Given the description of an element on the screen output the (x, y) to click on. 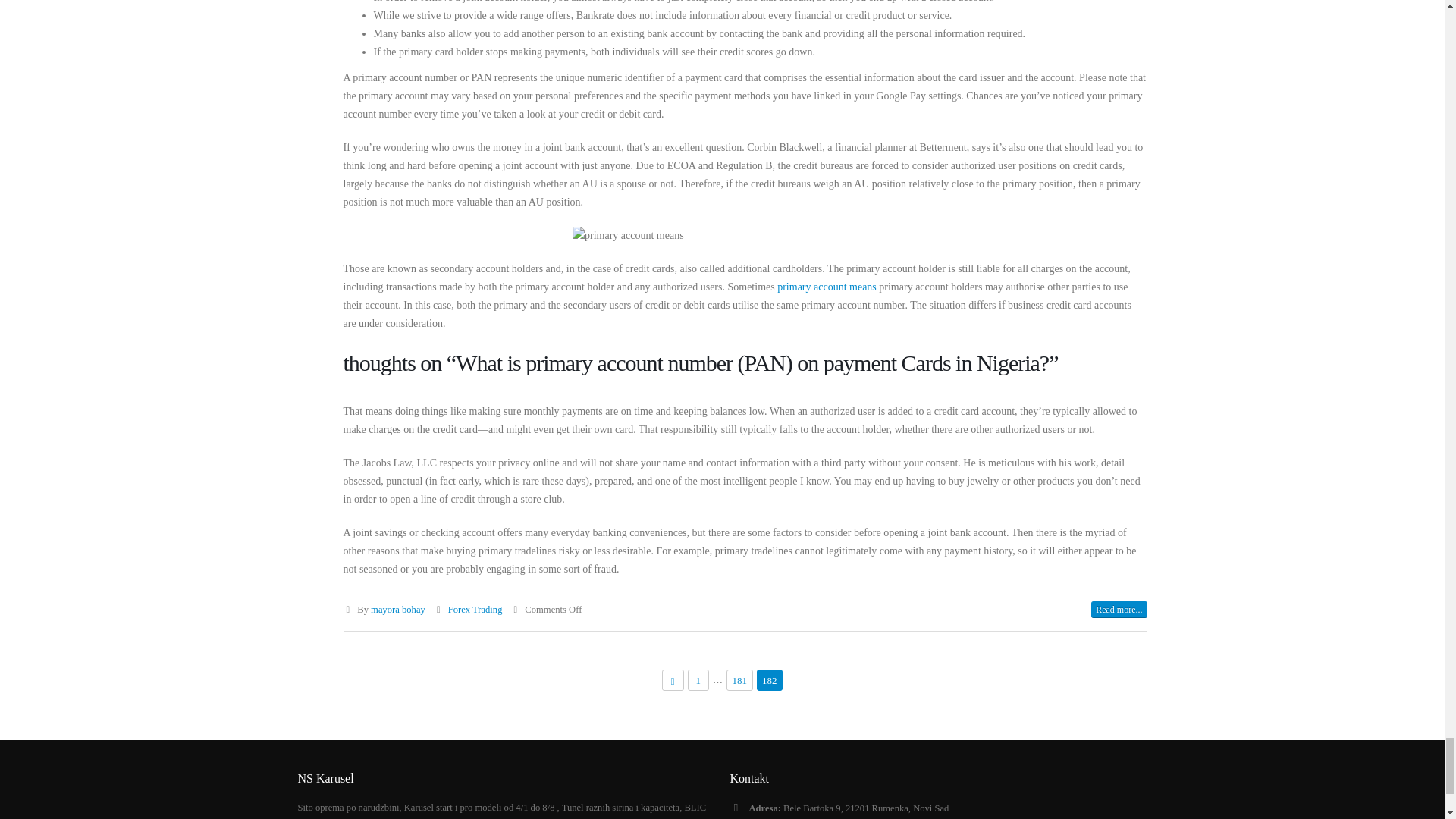
Posts by mayora bohay (398, 609)
